Given the description of an element on the screen output the (x, y) to click on. 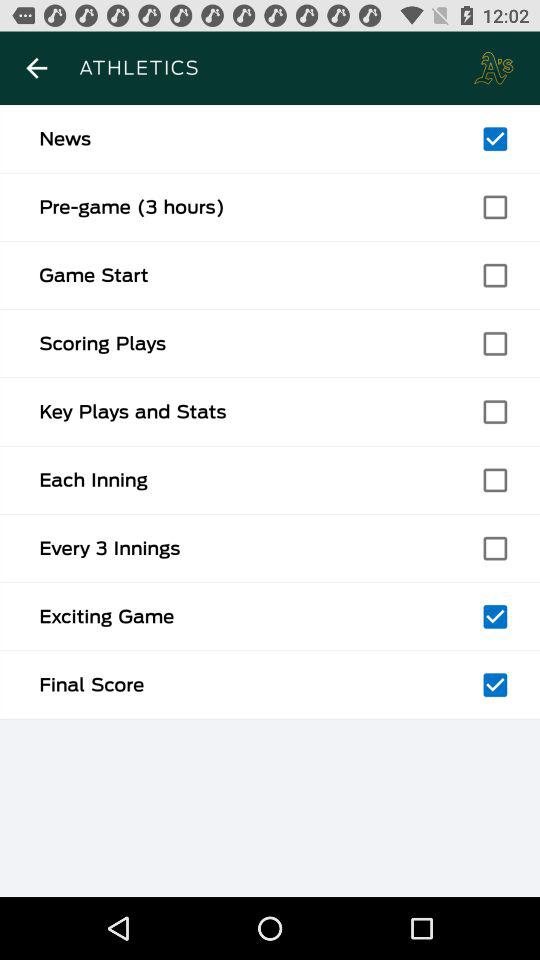
select option (495, 685)
